Given the description of an element on the screen output the (x, y) to click on. 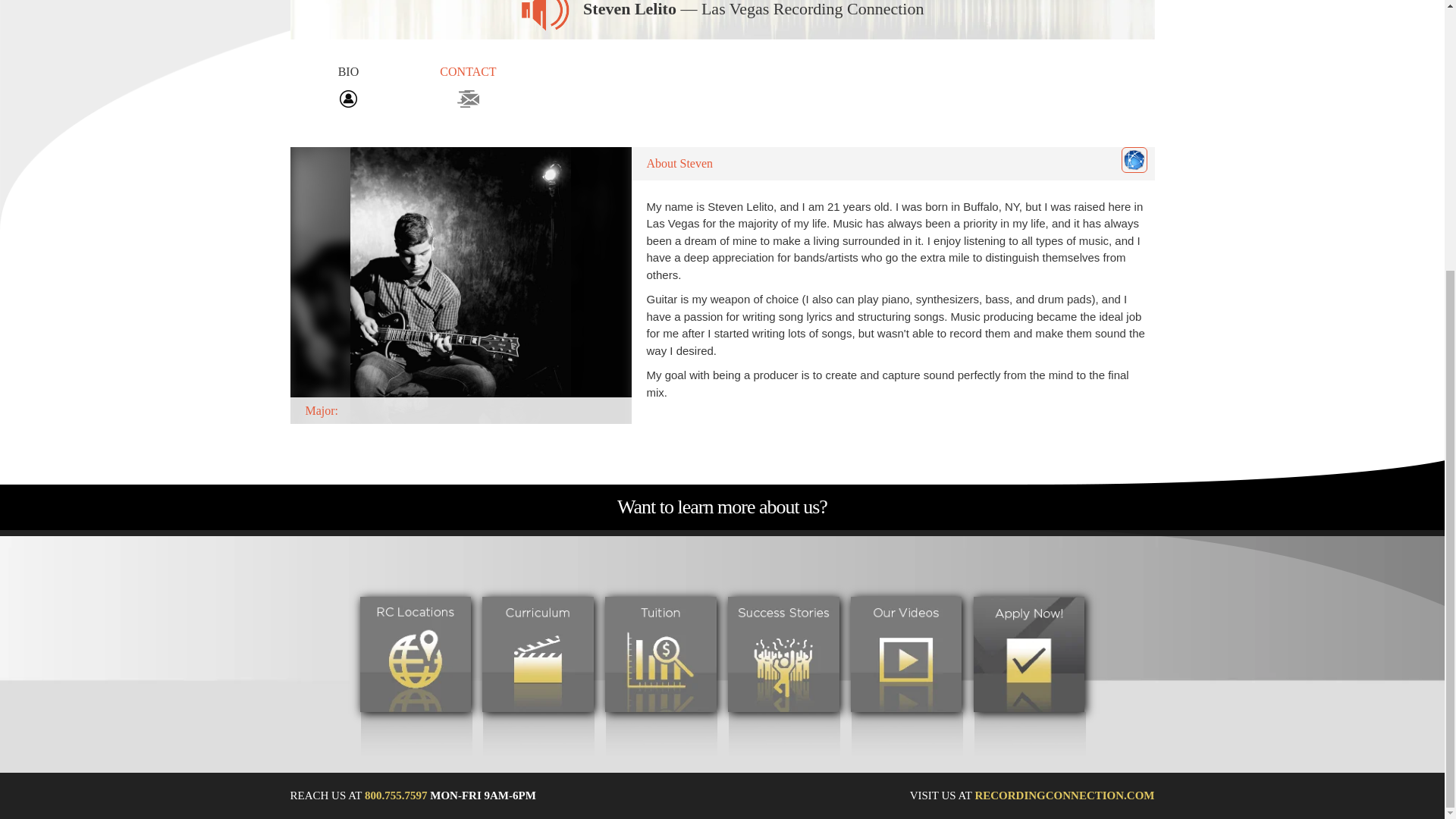
Major: (459, 285)
800.755.7597 (396, 795)
CONTACT (468, 85)
BIO (347, 85)
Steven Lelito's Website (1134, 159)
RECORDINGCONNECTION.COM (1064, 795)
